Given the description of an element on the screen output the (x, y) to click on. 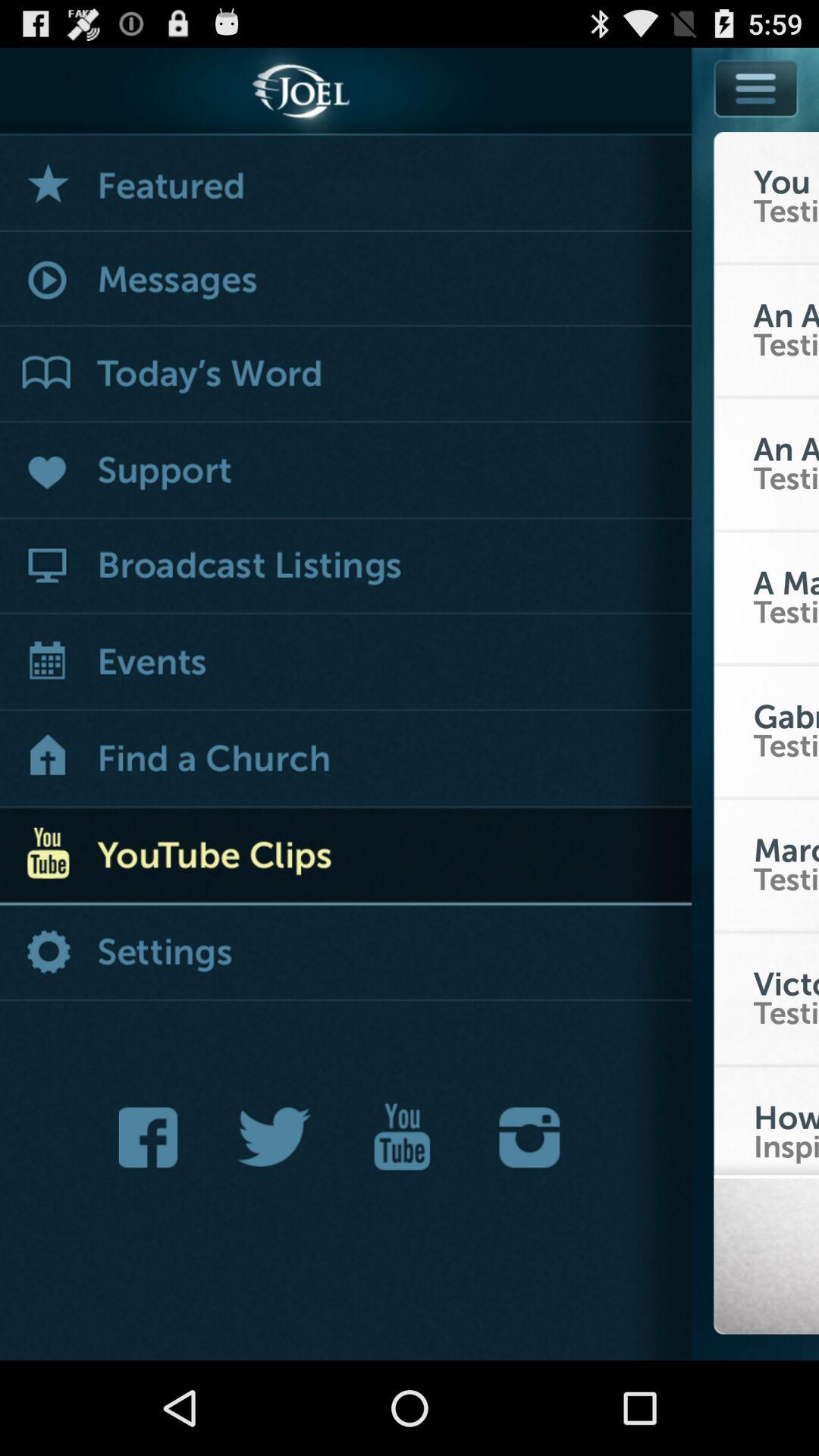
search option for church location (345, 760)
